Given the description of an element on the screen output the (x, y) to click on. 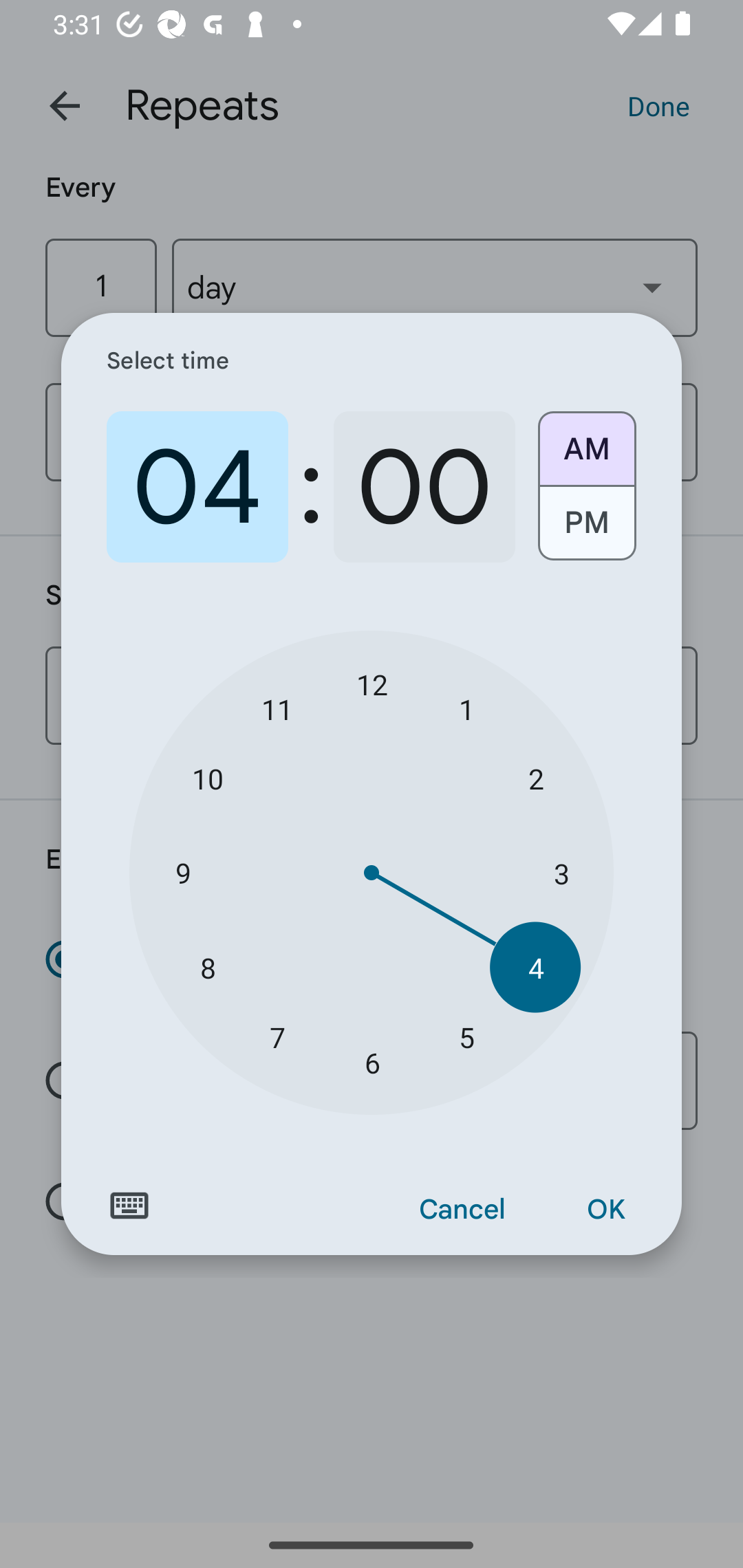
AM (586, 441)
04 4 o'clock (197, 486)
00 0 minutes (424, 486)
PM (586, 529)
12 12 o'clock (371, 683)
11 11 o'clock (276, 708)
1 1 o'clock (466, 708)
10 10 o'clock (207, 778)
2 2 o'clock (535, 778)
9 9 o'clock (182, 872)
3 3 o'clock (561, 872)
8 8 o'clock (207, 966)
4 4 o'clock (535, 966)
7 7 o'clock (276, 1035)
5 5 o'clock (466, 1035)
6 6 o'clock (371, 1062)
Switch to text input mode for the time input. (128, 1205)
Cancel (462, 1209)
OK (605, 1209)
